Given the description of an element on the screen output the (x, y) to click on. 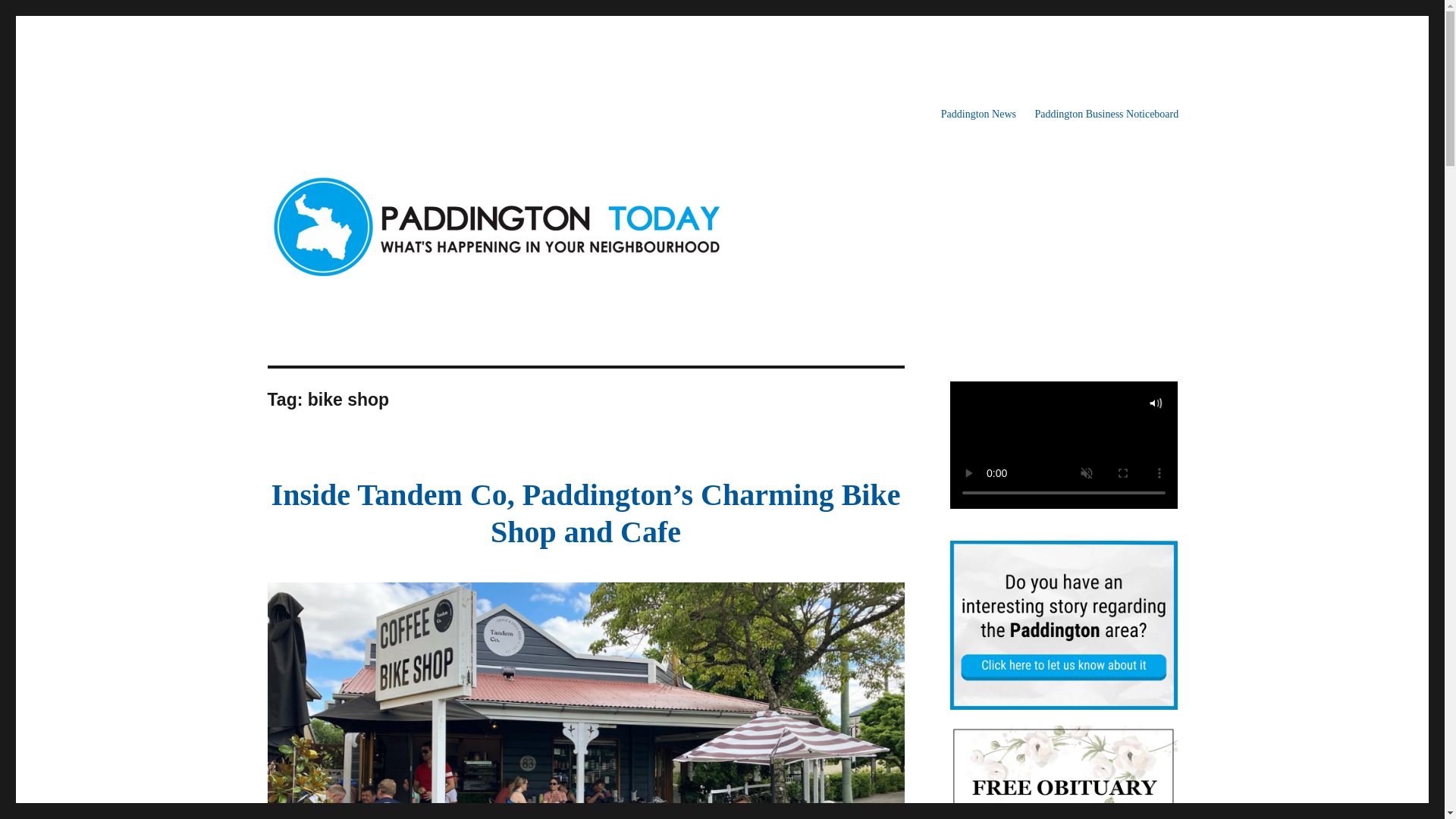
Paddington Today (349, 114)
Paddington News (978, 114)
Paddington Business Noticeboard (1106, 114)
